Given the description of an element on the screen output the (x, y) to click on. 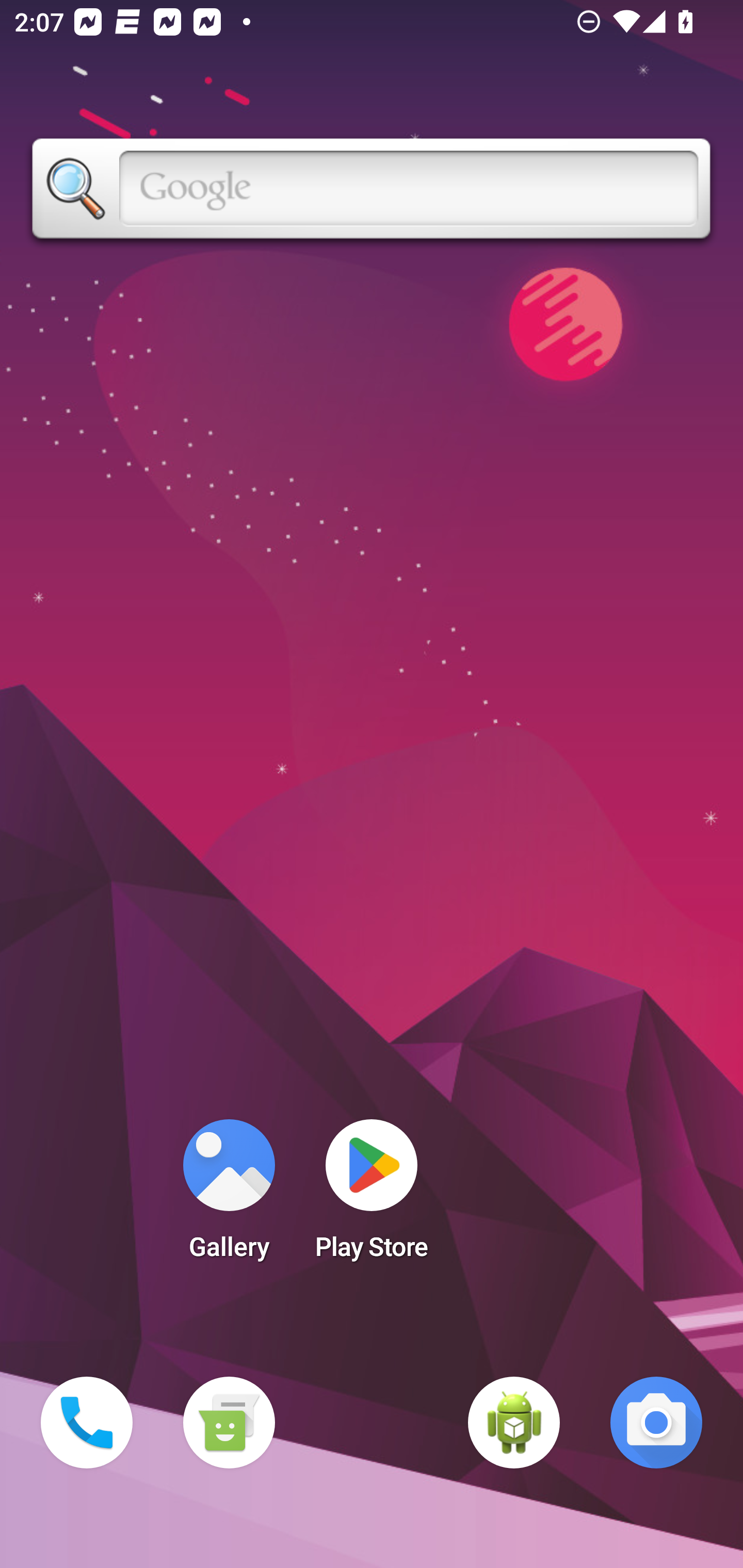
Gallery (228, 1195)
Play Store (371, 1195)
Phone (86, 1422)
Messaging (228, 1422)
WebView Browser Tester (513, 1422)
Camera (656, 1422)
